Given the description of an element on the screen output the (x, y) to click on. 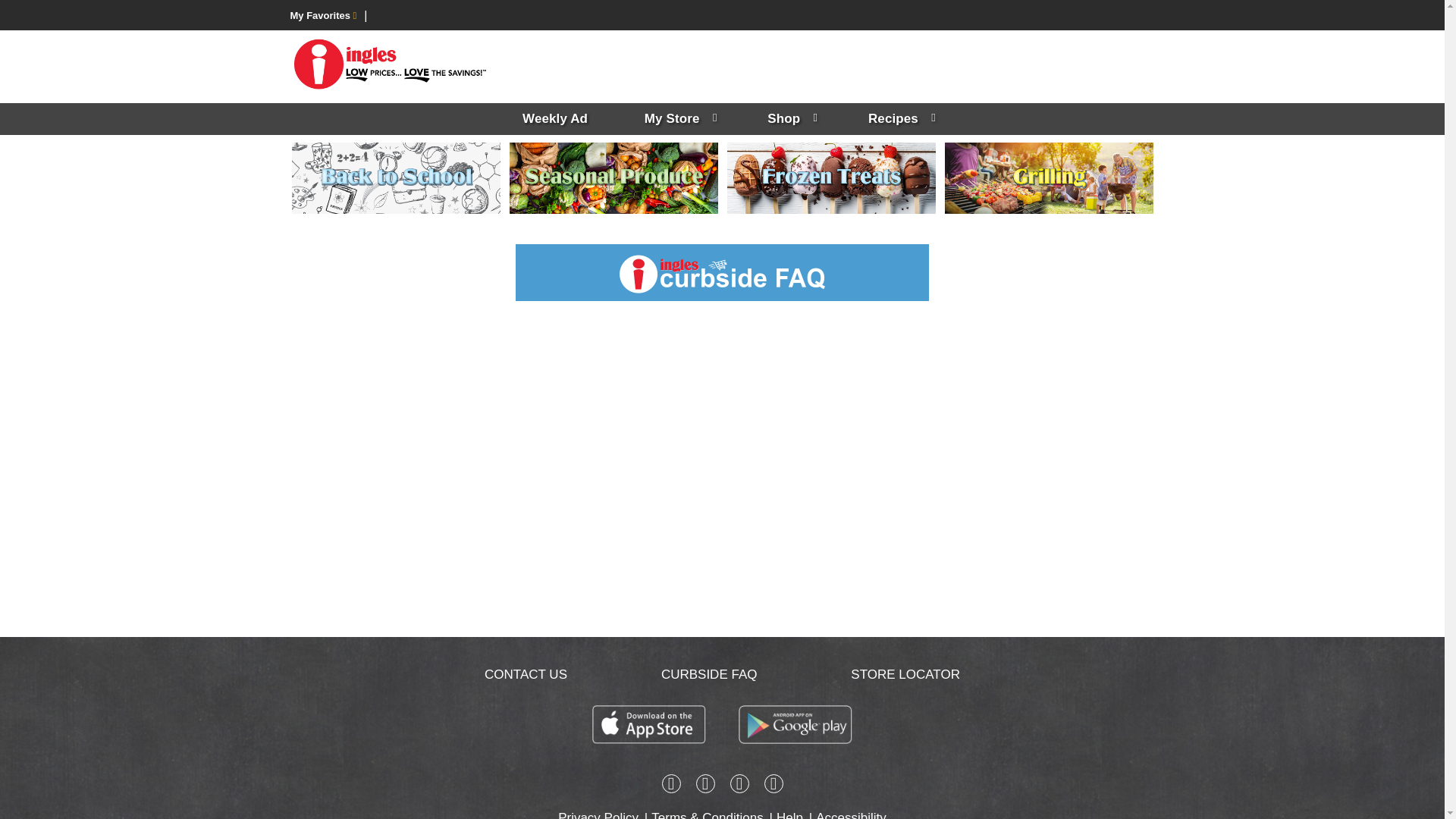
Frozen Treats (830, 177)
Grilling (1048, 177)
Back to School (395, 177)
My Favorites  (322, 15)
STORE LOCATOR (904, 674)
Shop (789, 119)
Weekly Ad (554, 119)
My Store (677, 119)
twitter (738, 785)
facebook (670, 785)
Recipes (898, 119)
CURBSIDE FAQ (709, 674)
instagram (704, 785)
CONTACT US (525, 674)
youtube (773, 785)
